Given the description of an element on the screen output the (x, y) to click on. 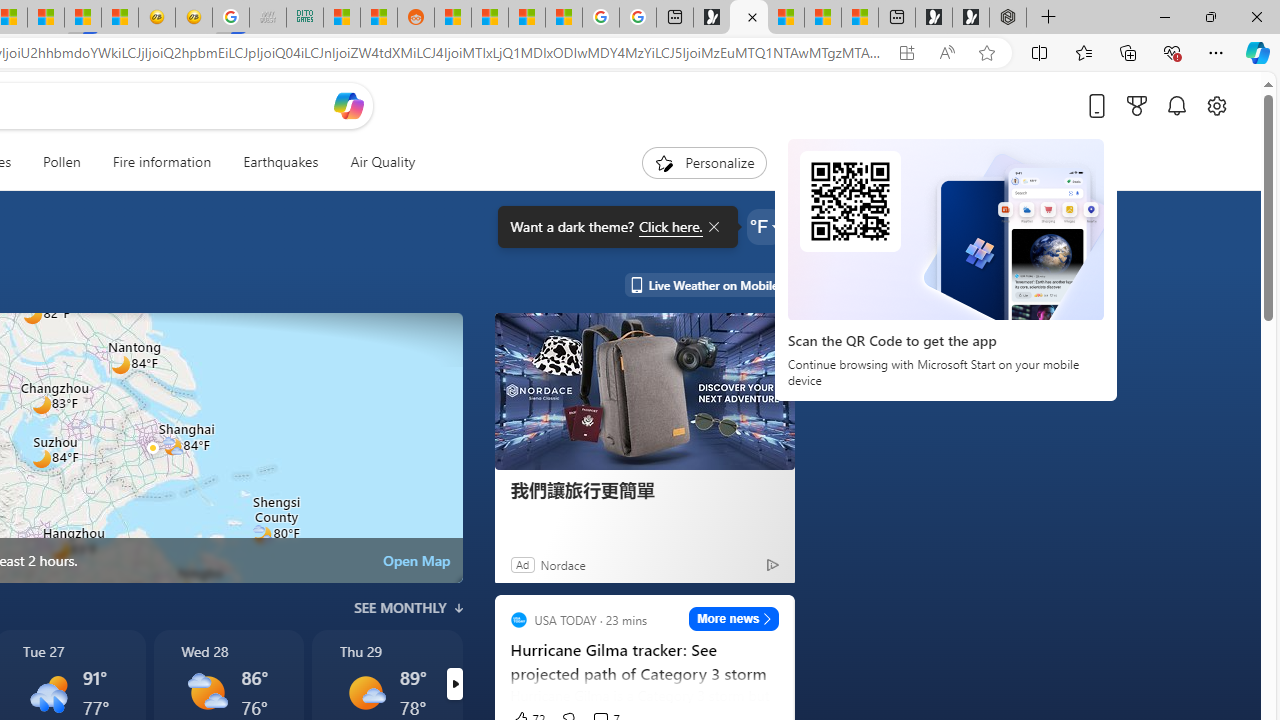
Pollen (61, 162)
